Given the description of an element on the screen output the (x, y) to click on. 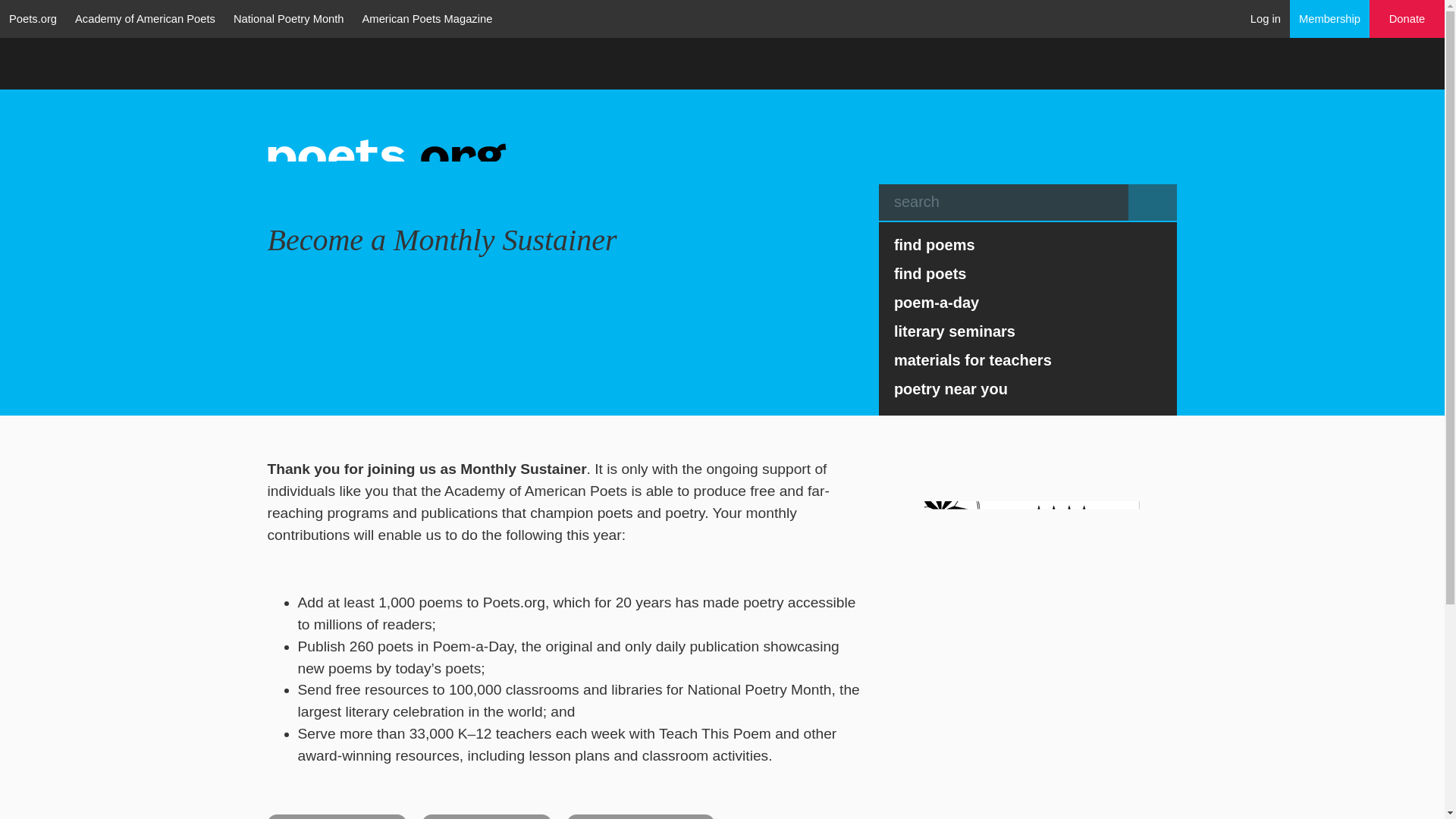
Academy of American Poets (144, 18)
poetry near you (1028, 388)
literary seminars (1028, 330)
materials for teachers (1028, 359)
Support the mission of the Academy of American Poets (1407, 18)
find poets (1028, 273)
Donate (1407, 18)
Poets.org (32, 18)
poem-a-day (1028, 302)
poetry near you (1028, 388)
